Given the description of an element on the screen output the (x, y) to click on. 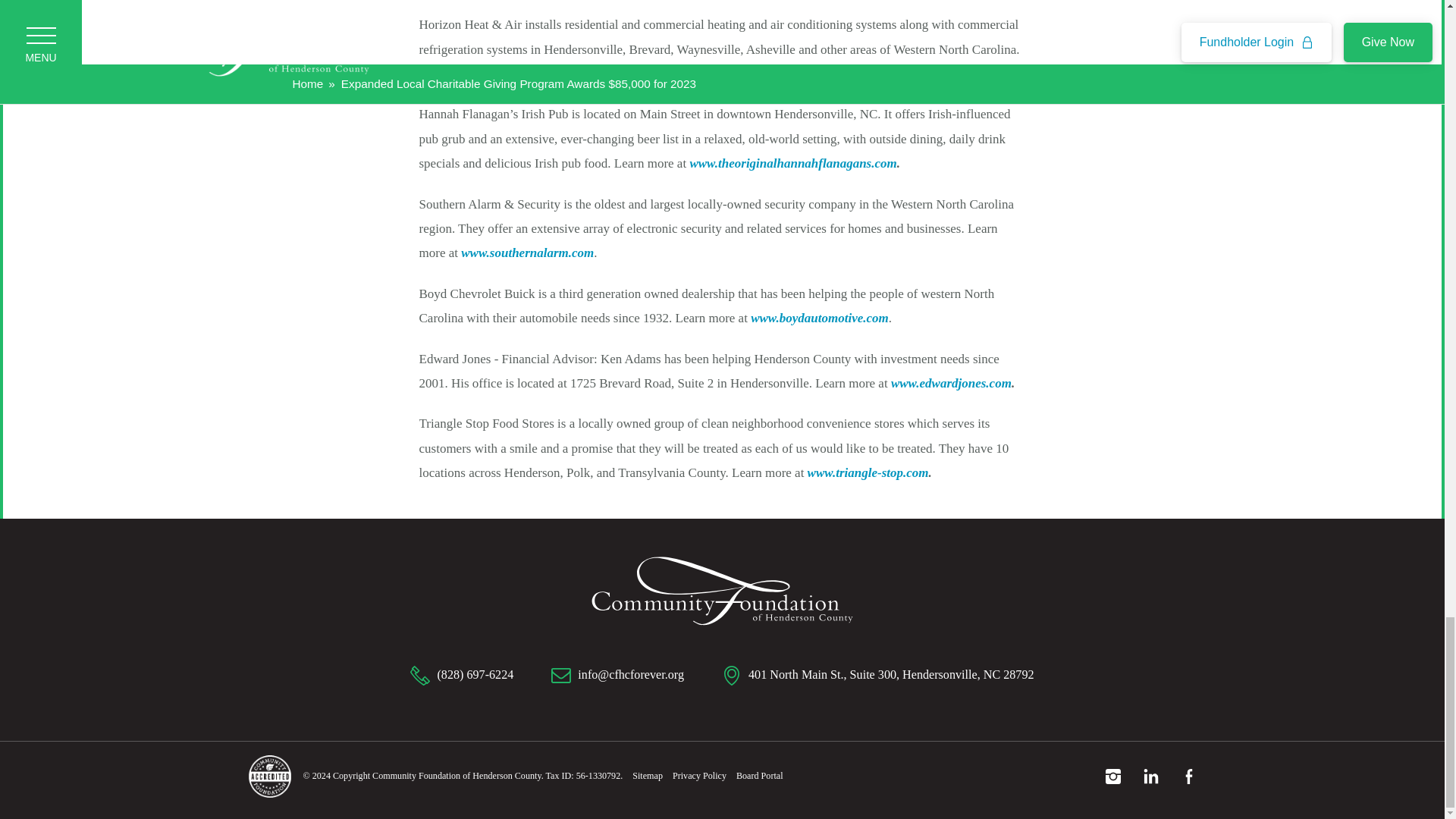
www.edwardjones.com (951, 382)
www.horizonheatac.com (559, 73)
www.southernalarm.com (527, 252)
www.theoriginalhannahflanagans.com (792, 163)
www.triangle-stop.com (868, 472)
www.boydautomotive.com (819, 318)
